Given the description of an element on the screen output the (x, y) to click on. 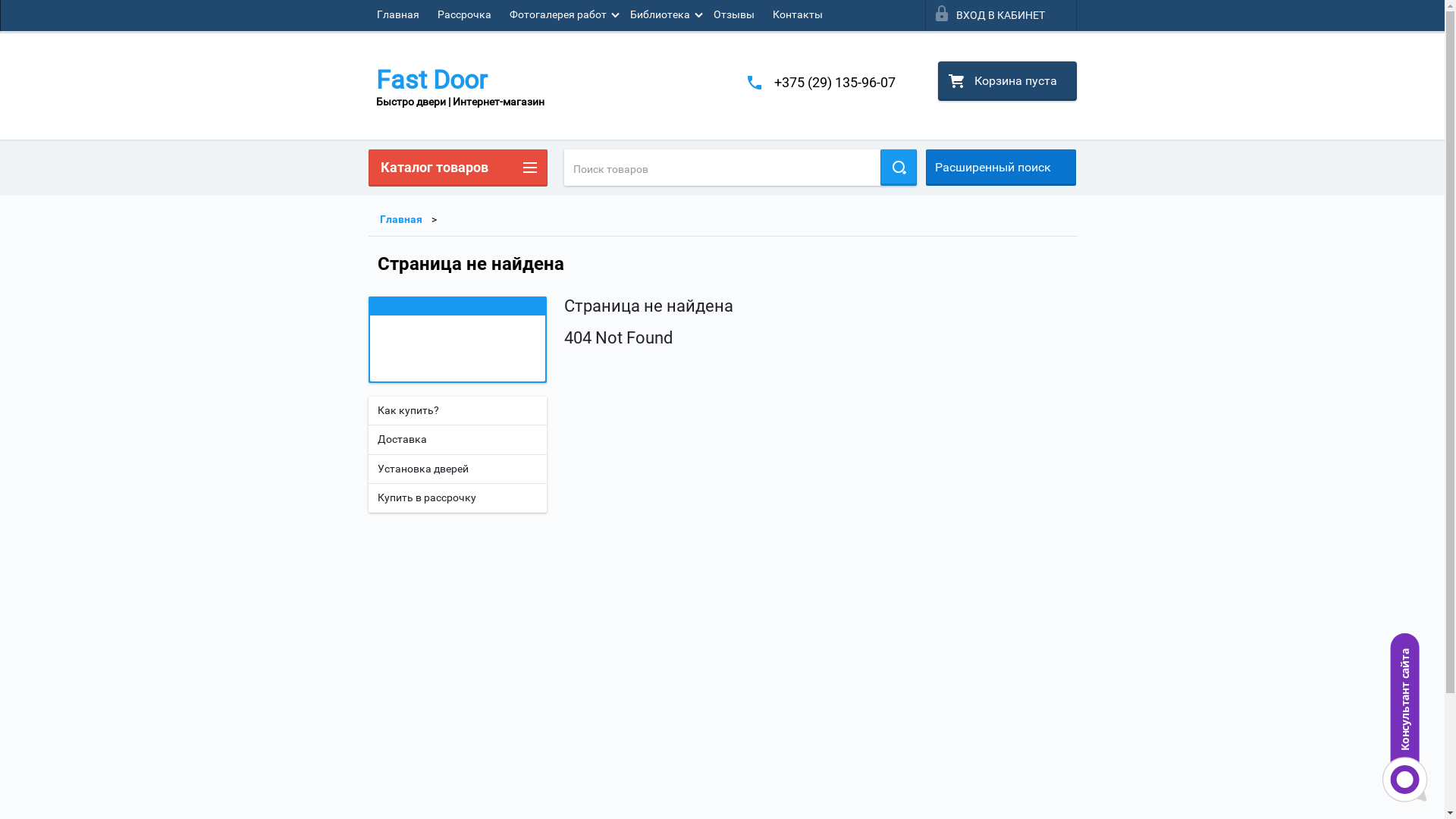
Fast Door Element type: text (460, 79)
+375 (29) 135-96-07 Element type: text (833, 82)
